Given the description of an element on the screen output the (x, y) to click on. 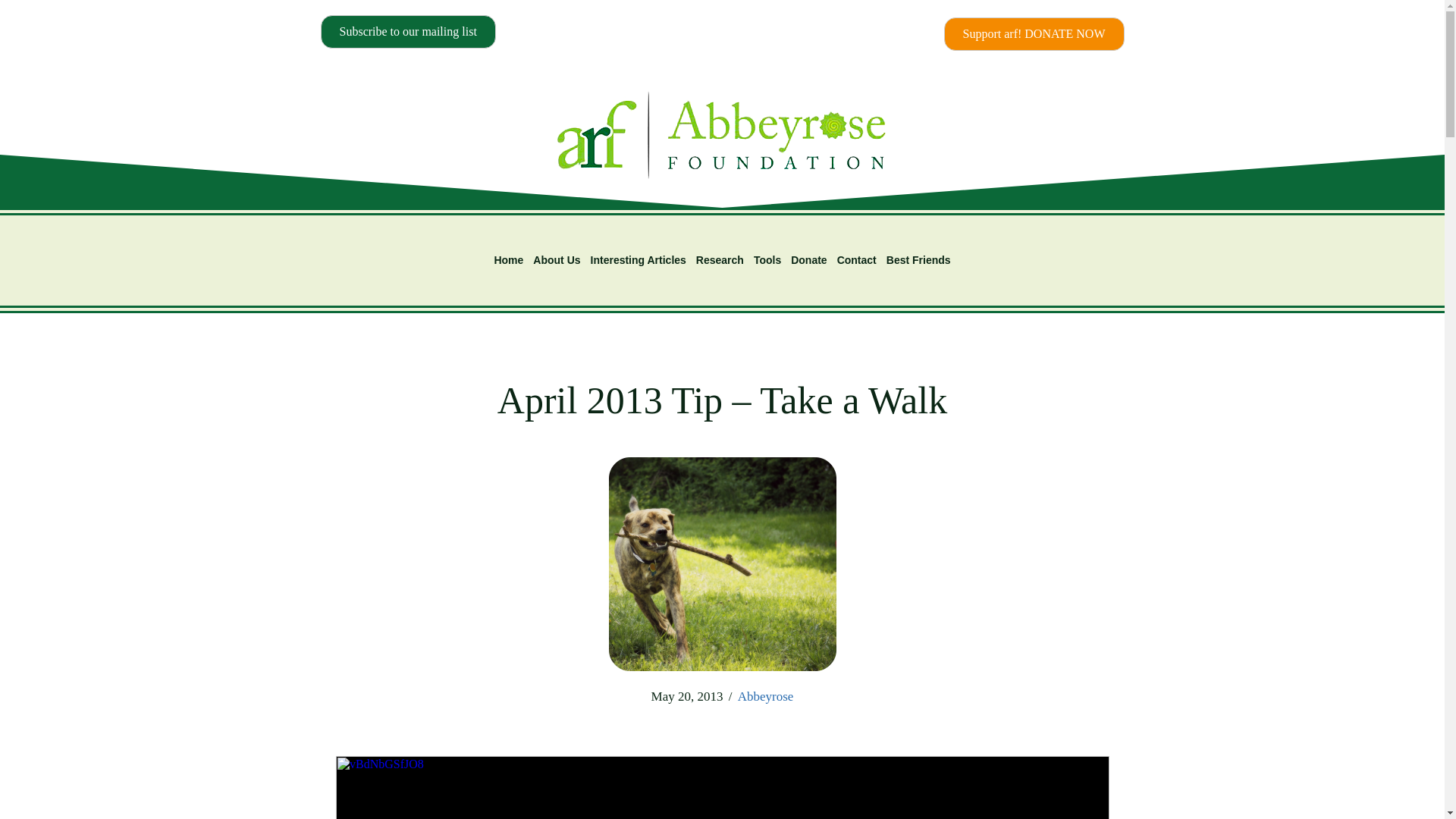
Best Friends (918, 260)
Interesting Articles (638, 260)
abbeyrosefndlogo trans (721, 137)
Step by Step June CoverFINAL (721, 563)
Tools (767, 260)
Subscribe to our mailing list (407, 31)
Research (719, 260)
Support arf! DONATE NOW (1033, 32)
Abbeyrose (765, 696)
Contact (856, 260)
